Given the description of an element on the screen output the (x, y) to click on. 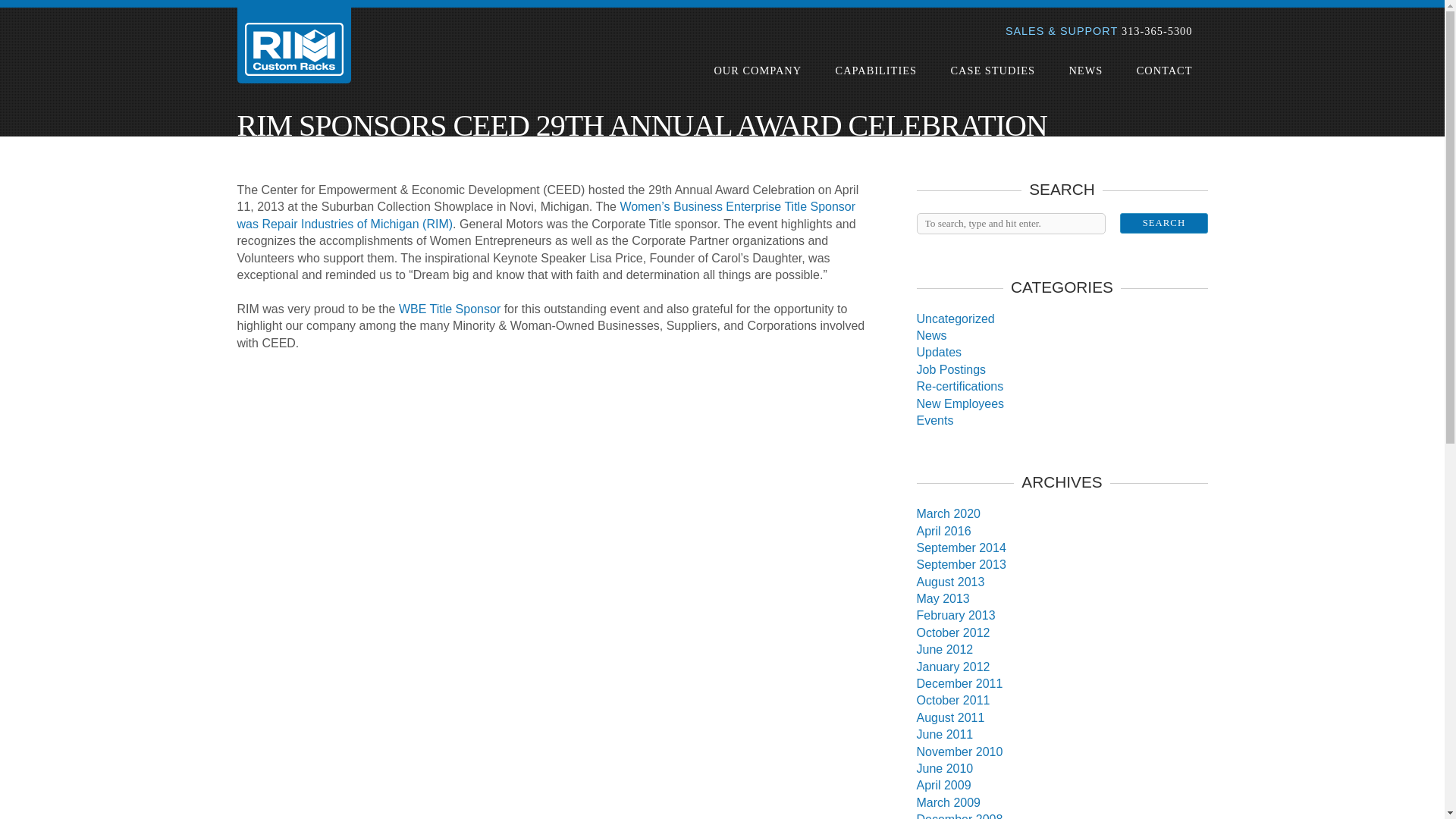
June 2011 (943, 734)
January 2012 (952, 666)
August 2013 (949, 581)
February 2013 (954, 615)
Events (934, 420)
New Employees (959, 403)
SEARCH (1163, 223)
December 2011 (959, 683)
Uncategorized (954, 318)
Updates (937, 351)
September 2013 (960, 563)
April 2009 (943, 784)
Job Postings (950, 369)
News (930, 335)
April 2016 (943, 530)
